Given the description of an element on the screen output the (x, y) to click on. 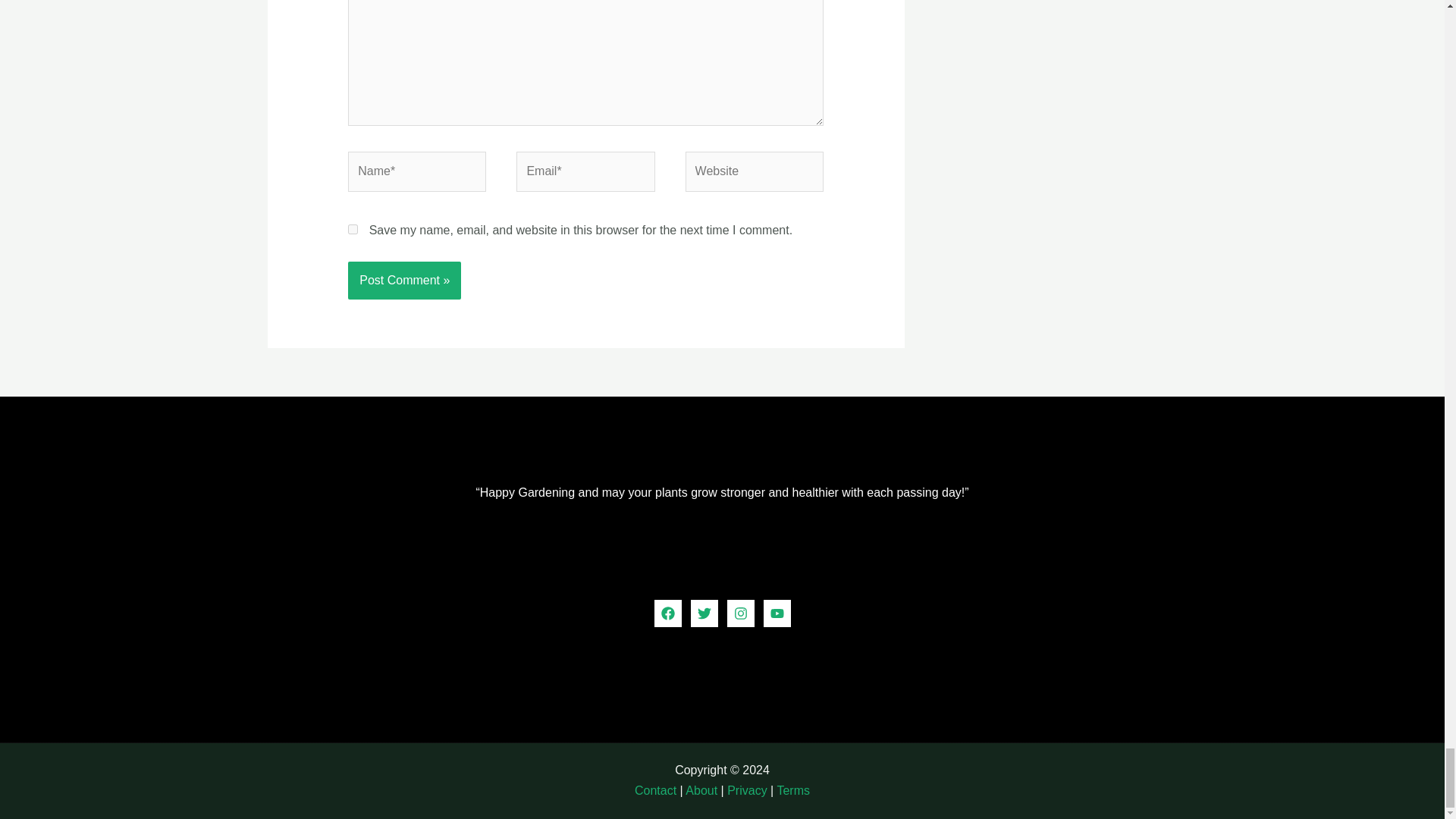
yes (352, 229)
